Given the description of an element on the screen output the (x, y) to click on. 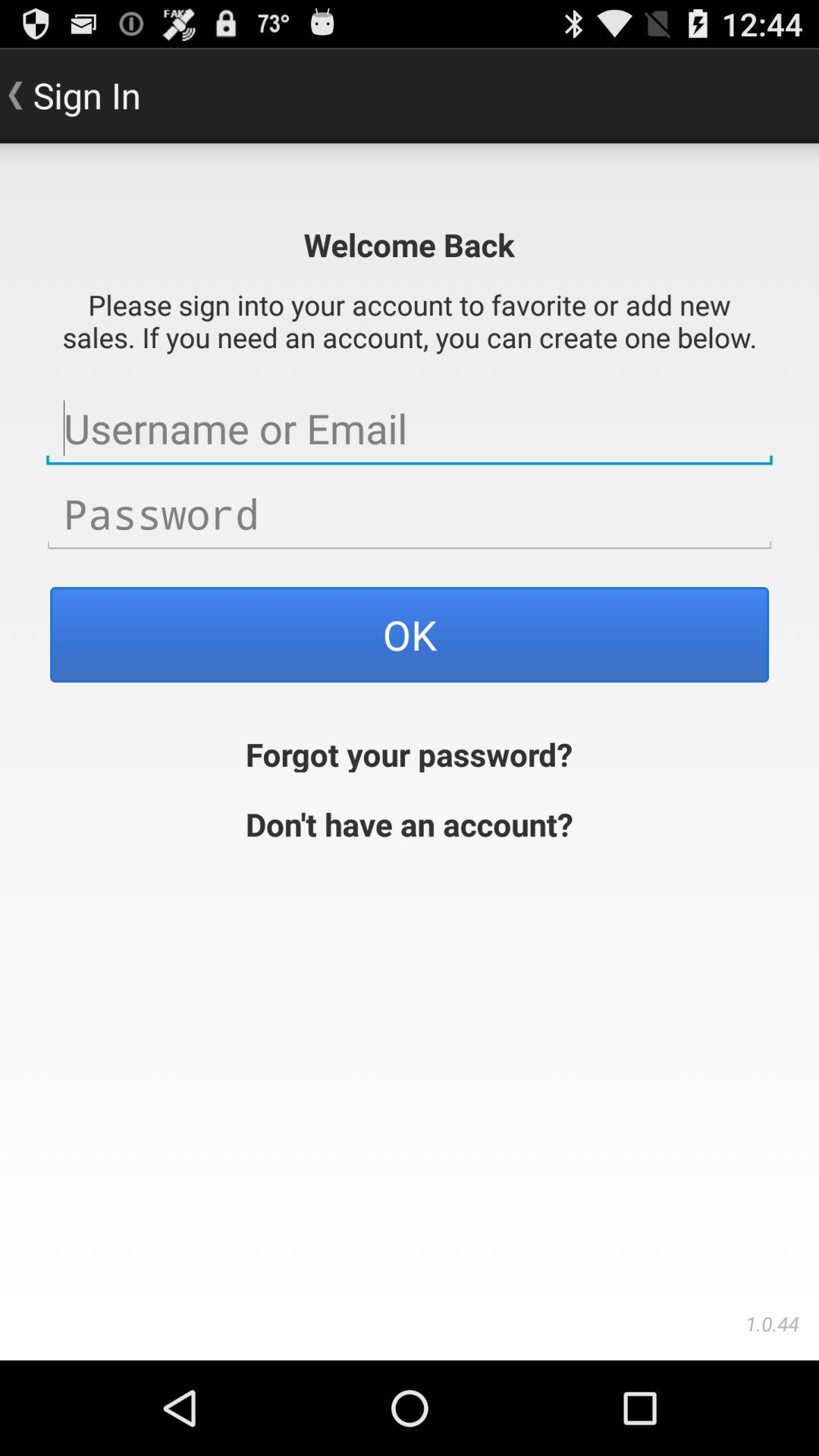
select ok button (409, 634)
